Given the description of an element on the screen output the (x, y) to click on. 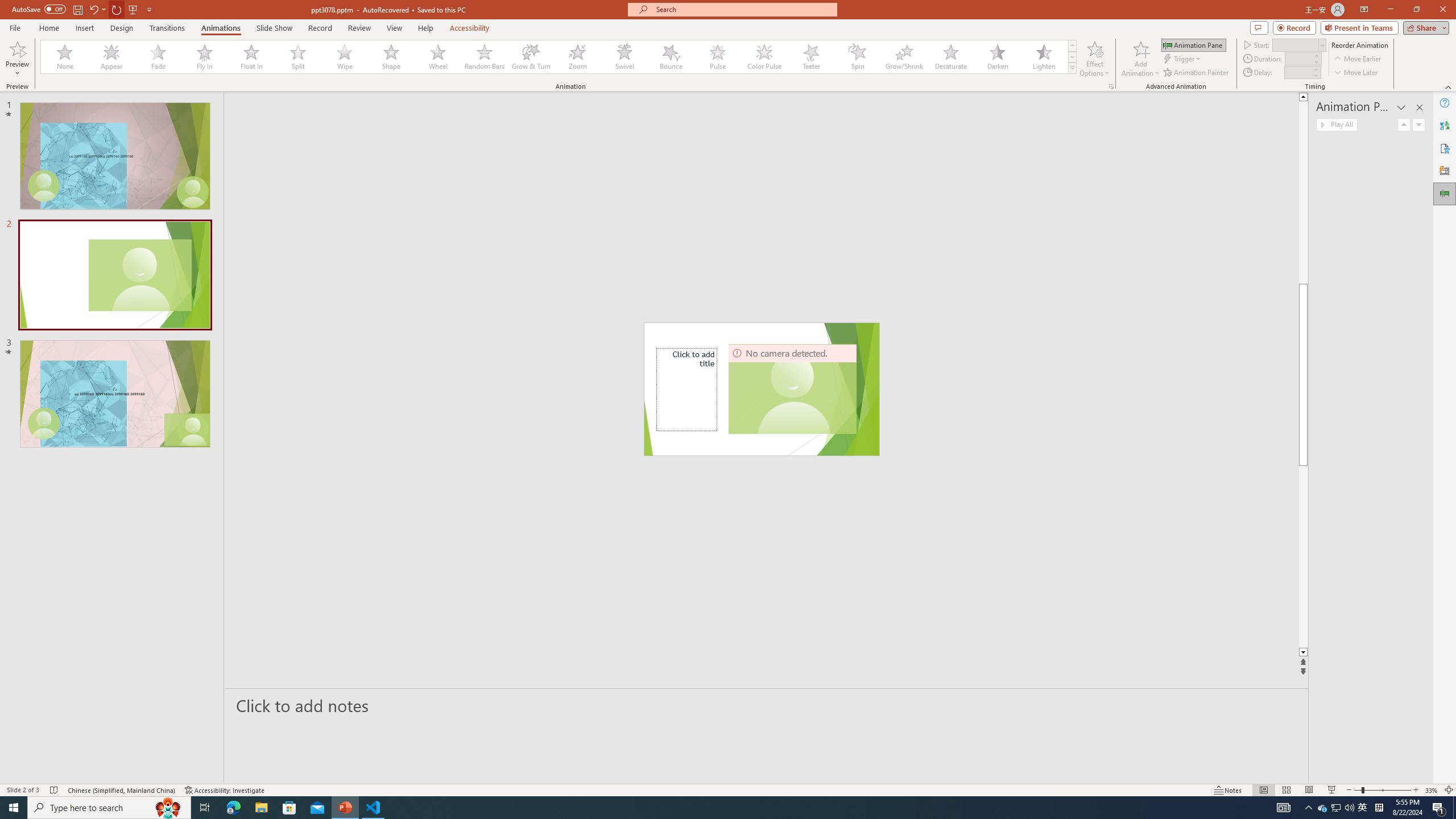
Swivel (624, 56)
Animation Styles (1071, 67)
Teeter (810, 56)
Play All (1336, 124)
